Given the description of an element on the screen output the (x, y) to click on. 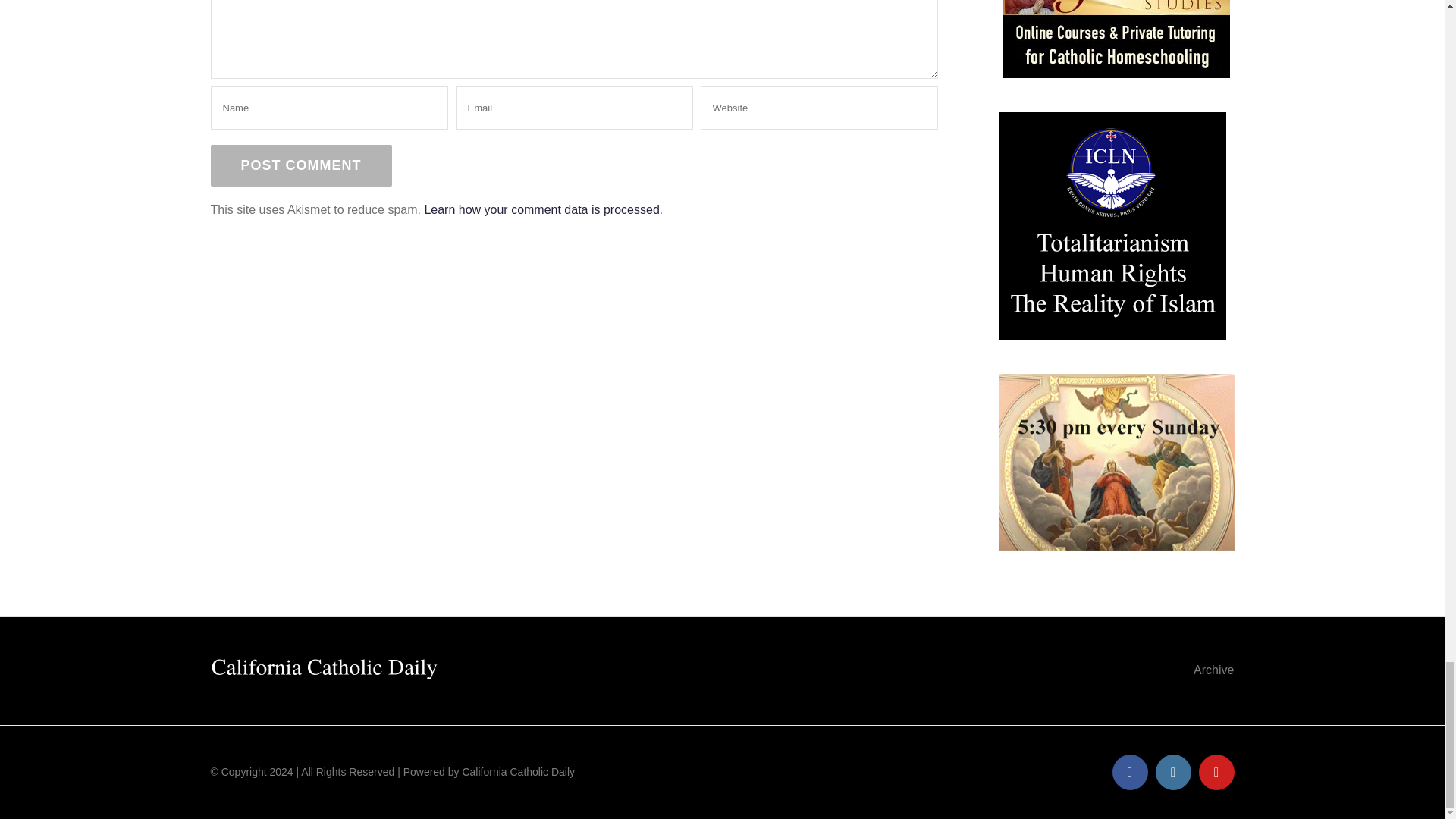
Post Comment (301, 165)
